Given the description of an element on the screen output the (x, y) to click on. 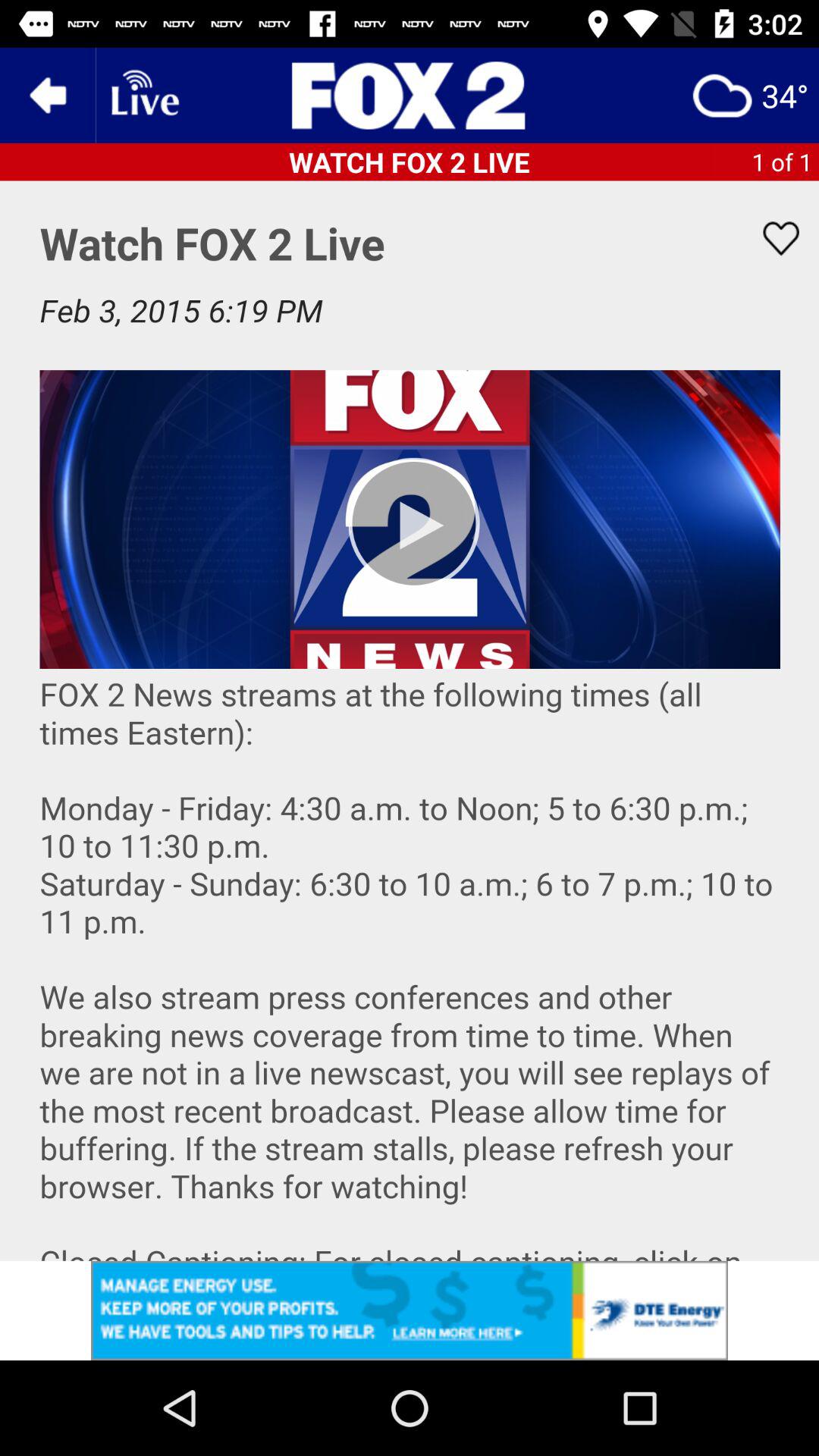
open advertisement (409, 1310)
